Given the description of an element on the screen output the (x, y) to click on. 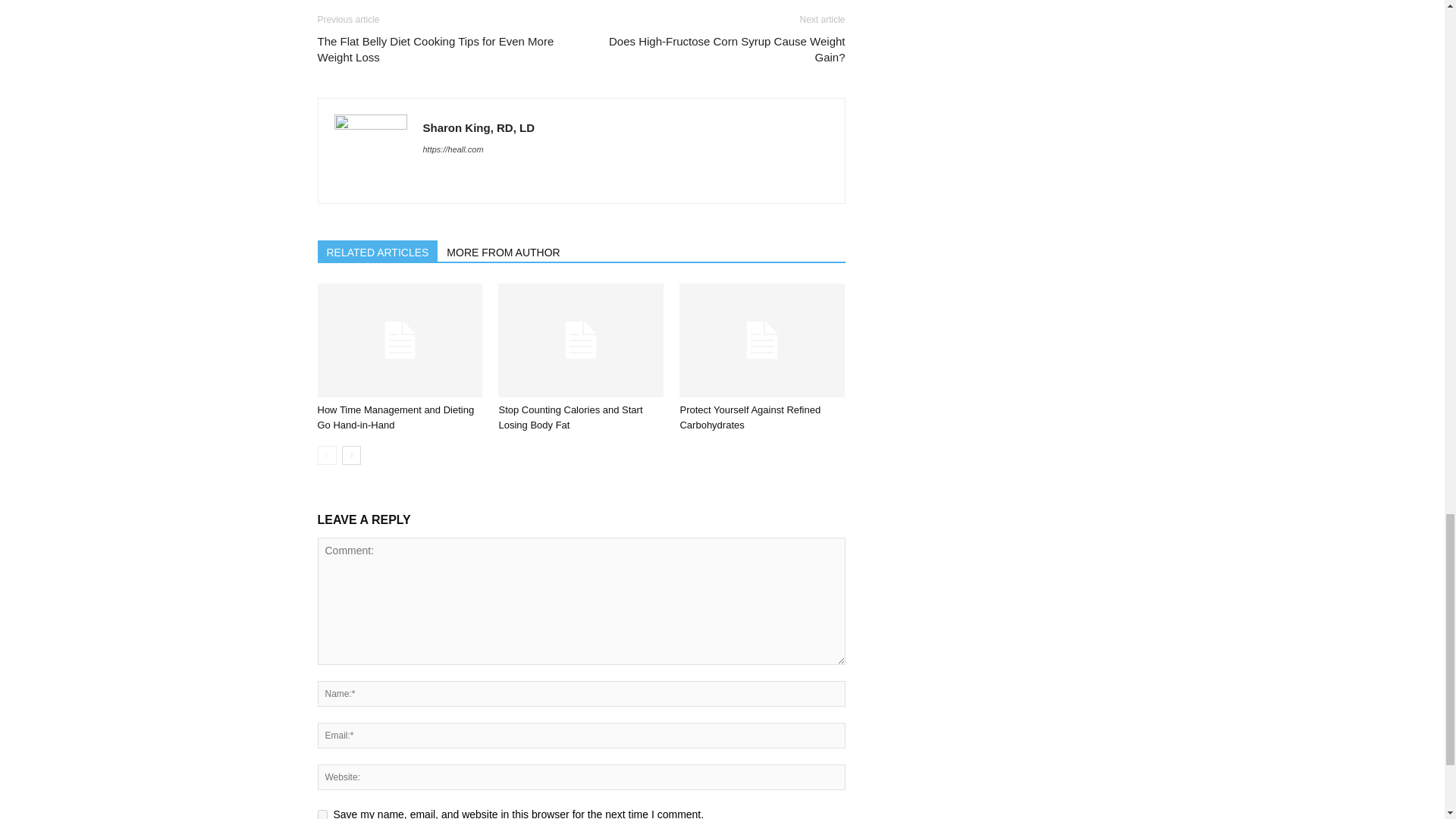
yes (321, 814)
